Given the description of an element on the screen output the (x, y) to click on. 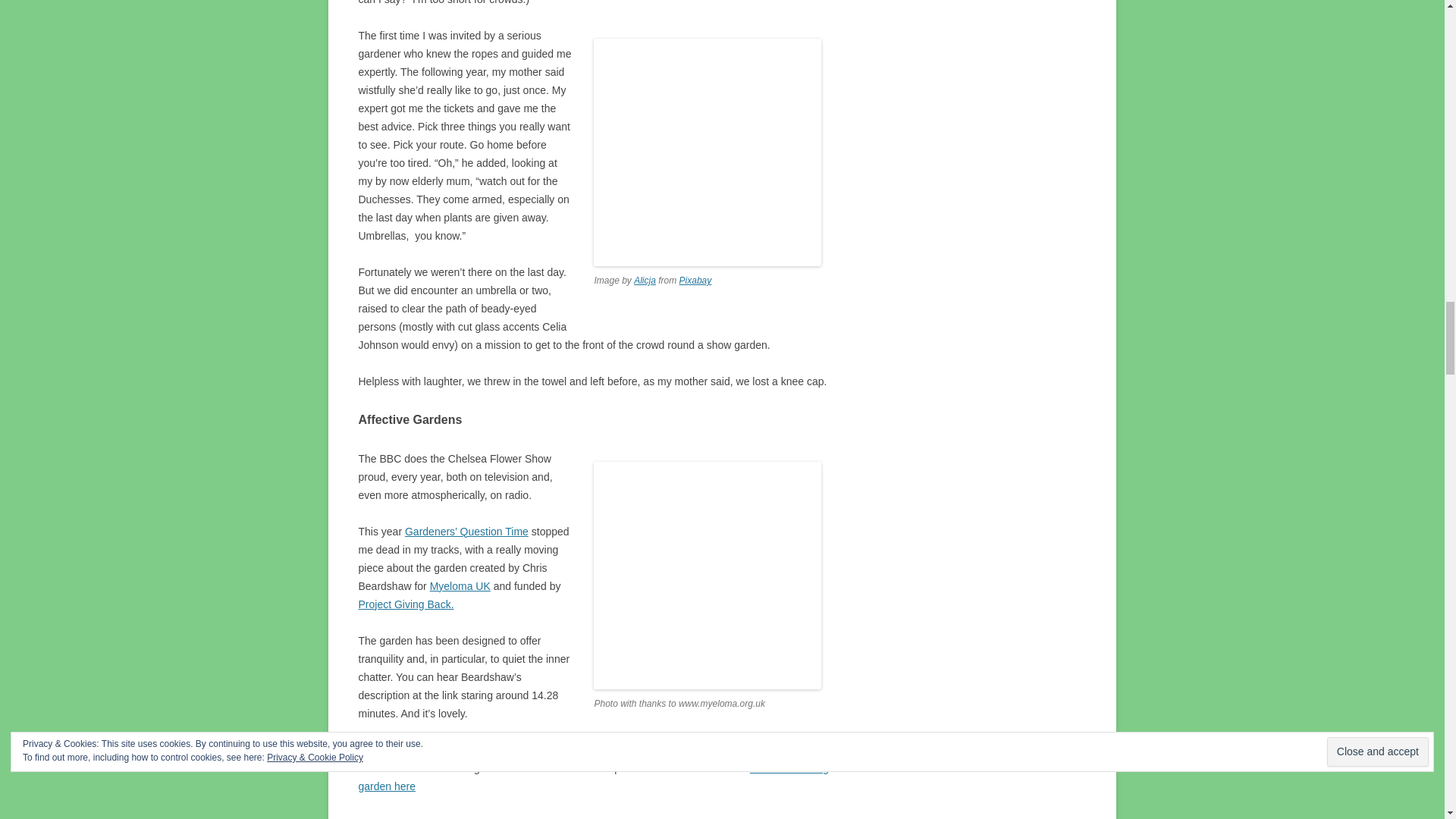
Project Giving Back. (405, 604)
Myeloma UK (459, 585)
Alicja (644, 280)
Pixabay (695, 280)
